Given the description of an element on the screen output the (x, y) to click on. 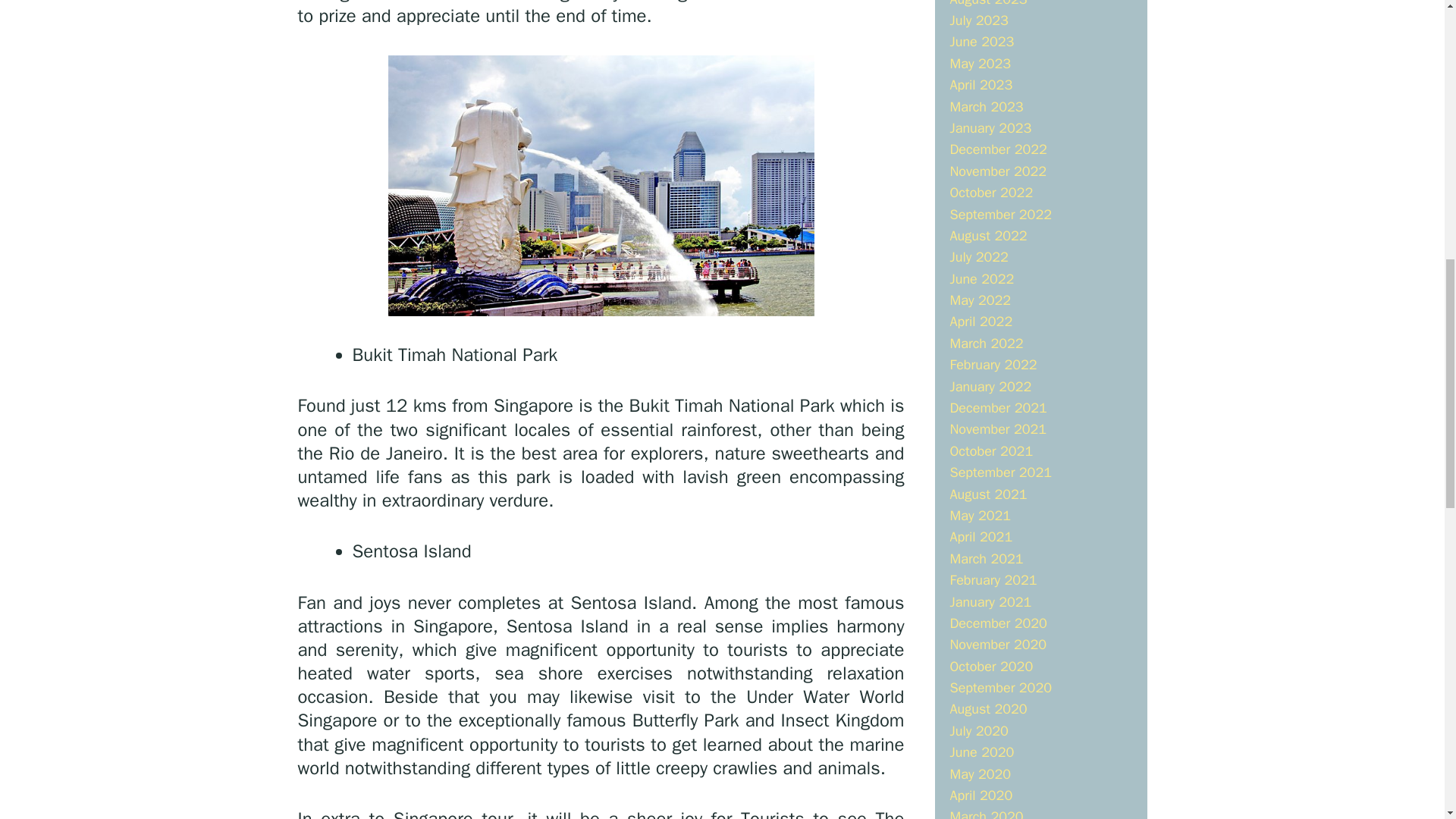
August 2022 (987, 235)
November 2022 (997, 170)
May 2023 (979, 63)
April 2023 (980, 84)
January 2023 (989, 127)
July 2022 (978, 256)
July 2023 (978, 20)
September 2022 (1000, 214)
October 2022 (990, 192)
August 2023 (987, 3)
